Given the description of an element on the screen output the (x, y) to click on. 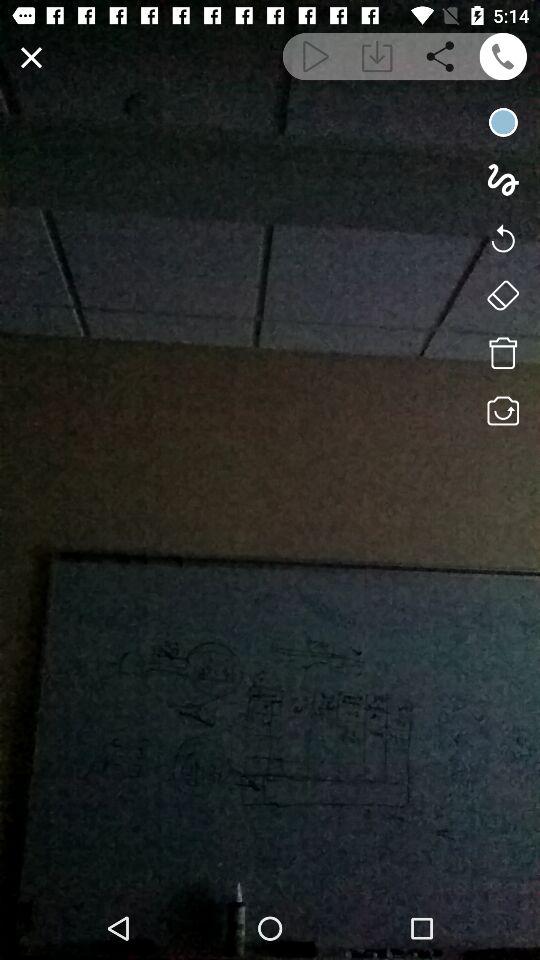
close the edit section (31, 57)
